Given the description of an element on the screen output the (x, y) to click on. 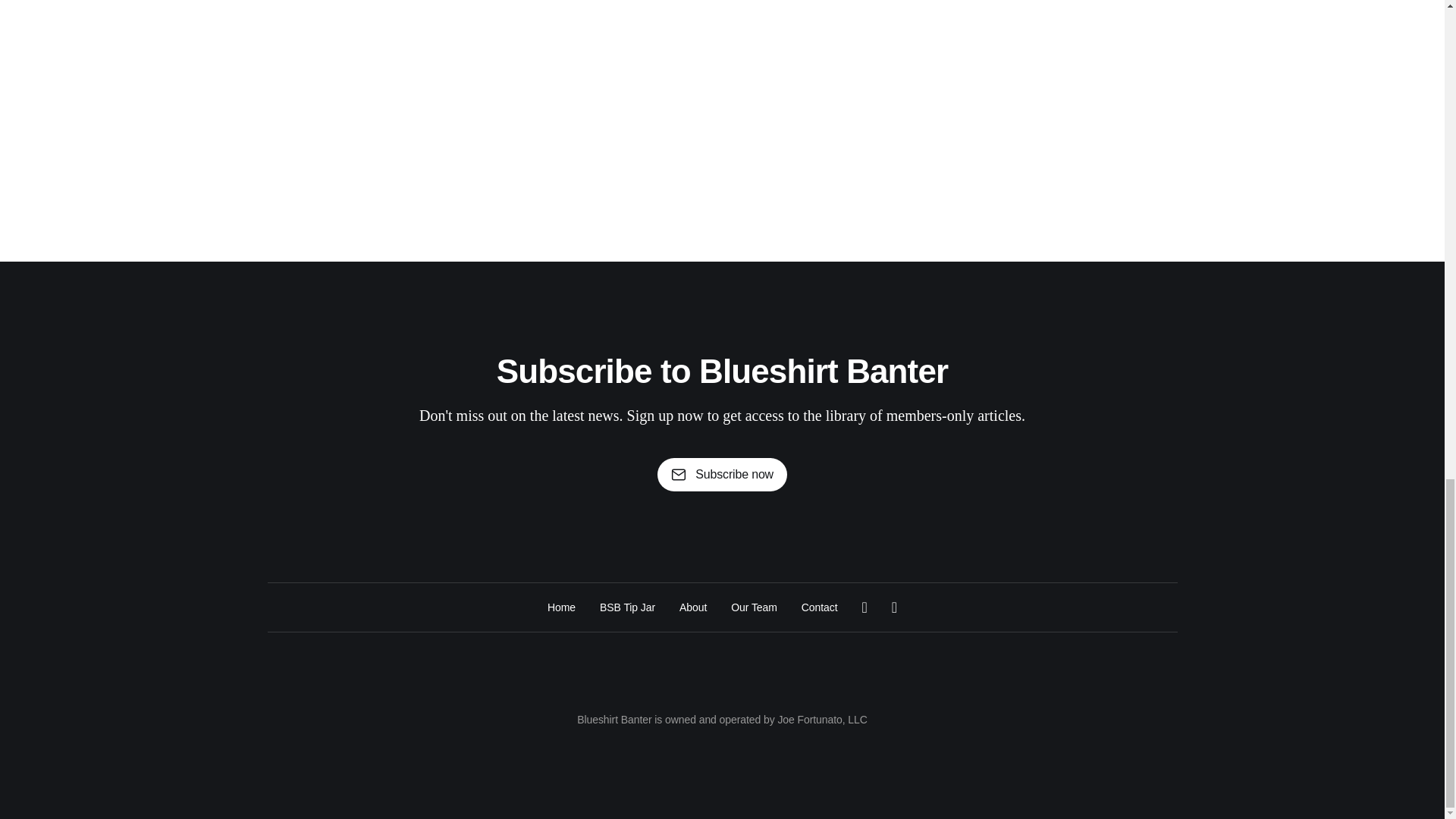
BSB Tip Jar (627, 606)
Home (561, 606)
Contact (820, 606)
Our Team (753, 606)
Subscribe now (722, 474)
About (692, 606)
